Given the description of an element on the screen output the (x, y) to click on. 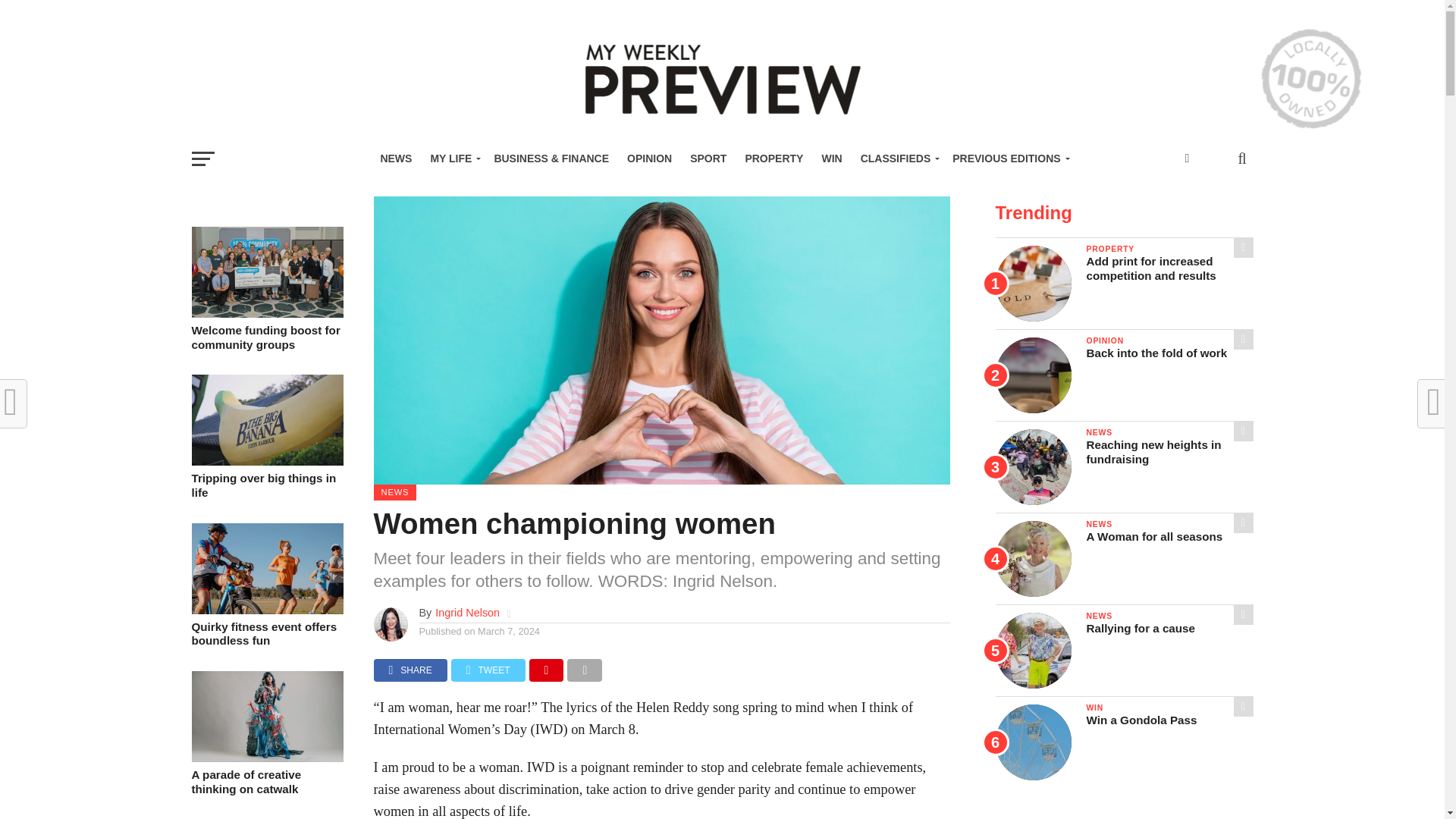
CLASSIFIEDS (897, 157)
MY LIFE (452, 157)
A parade of creative thinking on catwalk (266, 757)
PROPERTY (773, 157)
SPORT (708, 157)
OPINION (649, 157)
Welcome funding boost for community groups (266, 313)
Posts by Ingrid Nelson (467, 612)
PREVIOUS EDITIONS (1008, 157)
WIN (831, 157)
Tripping over big things in life (266, 461)
NEWS (395, 157)
Quirky fitness event offers boundless fun (266, 609)
